Given the description of an element on the screen output the (x, y) to click on. 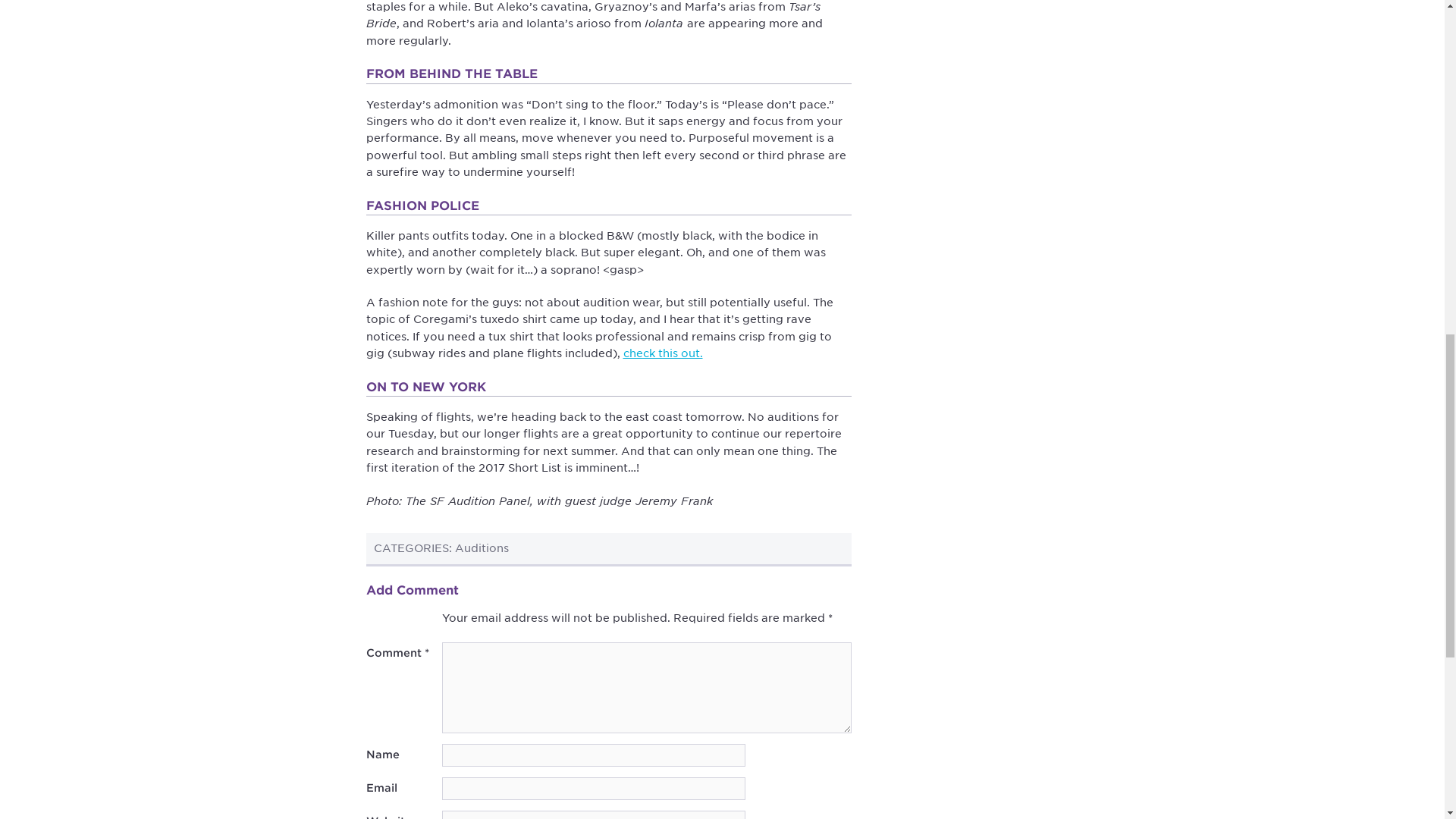
check this out. (663, 353)
Auditions (481, 548)
